Given the description of an element on the screen output the (x, y) to click on. 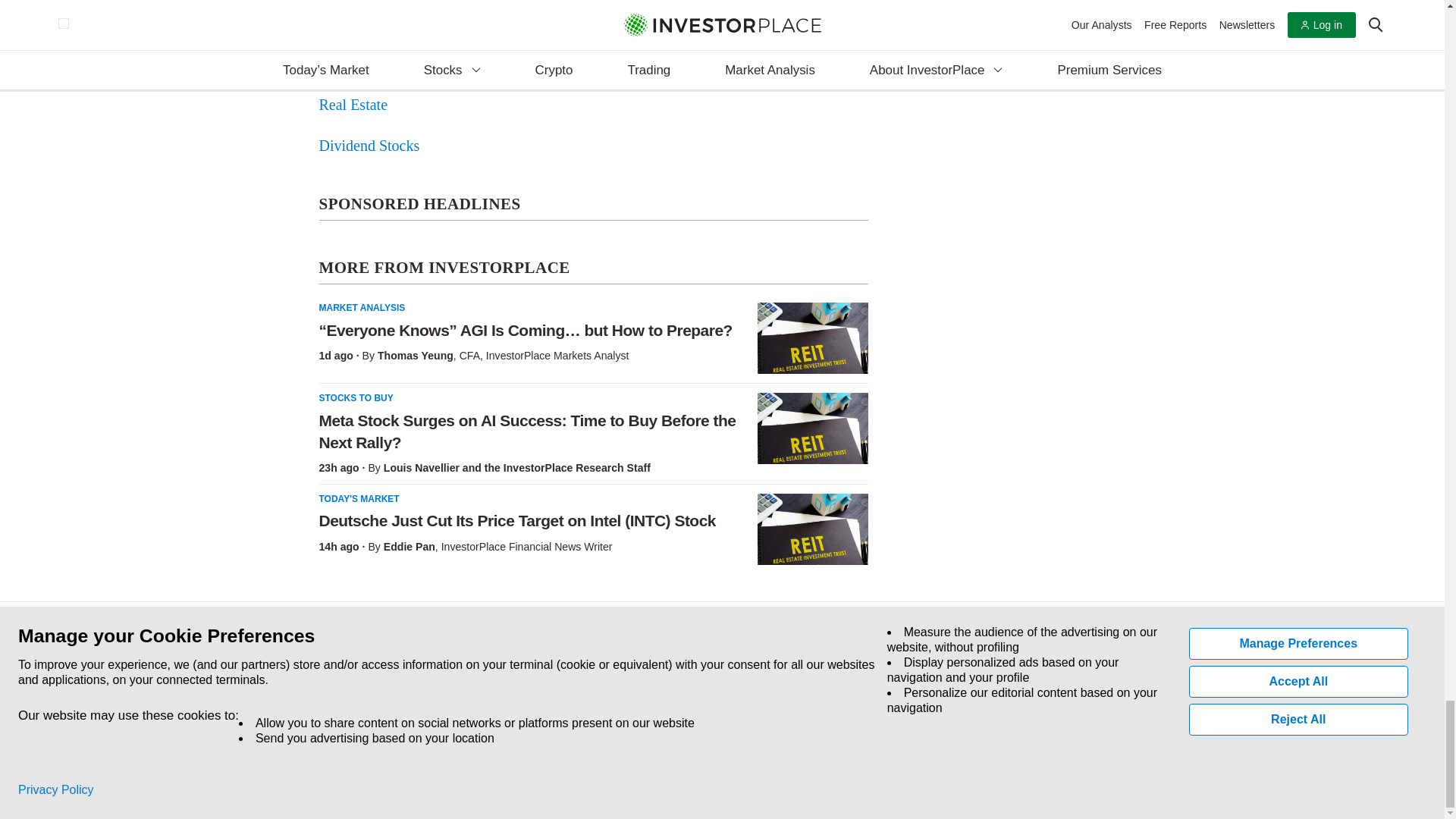
View profile of Thomas Yeung (414, 355)
Articles from Real Estate industry (352, 104)
Subscribe to our RSS feed (389, 711)
Visit our Facebook Page (319, 711)
Visit our Twitter page (354, 711)
Articles from Dividend Stocks stock type (368, 145)
View profile of Eddie Pan (409, 546)
